Given the description of an element on the screen output the (x, y) to click on. 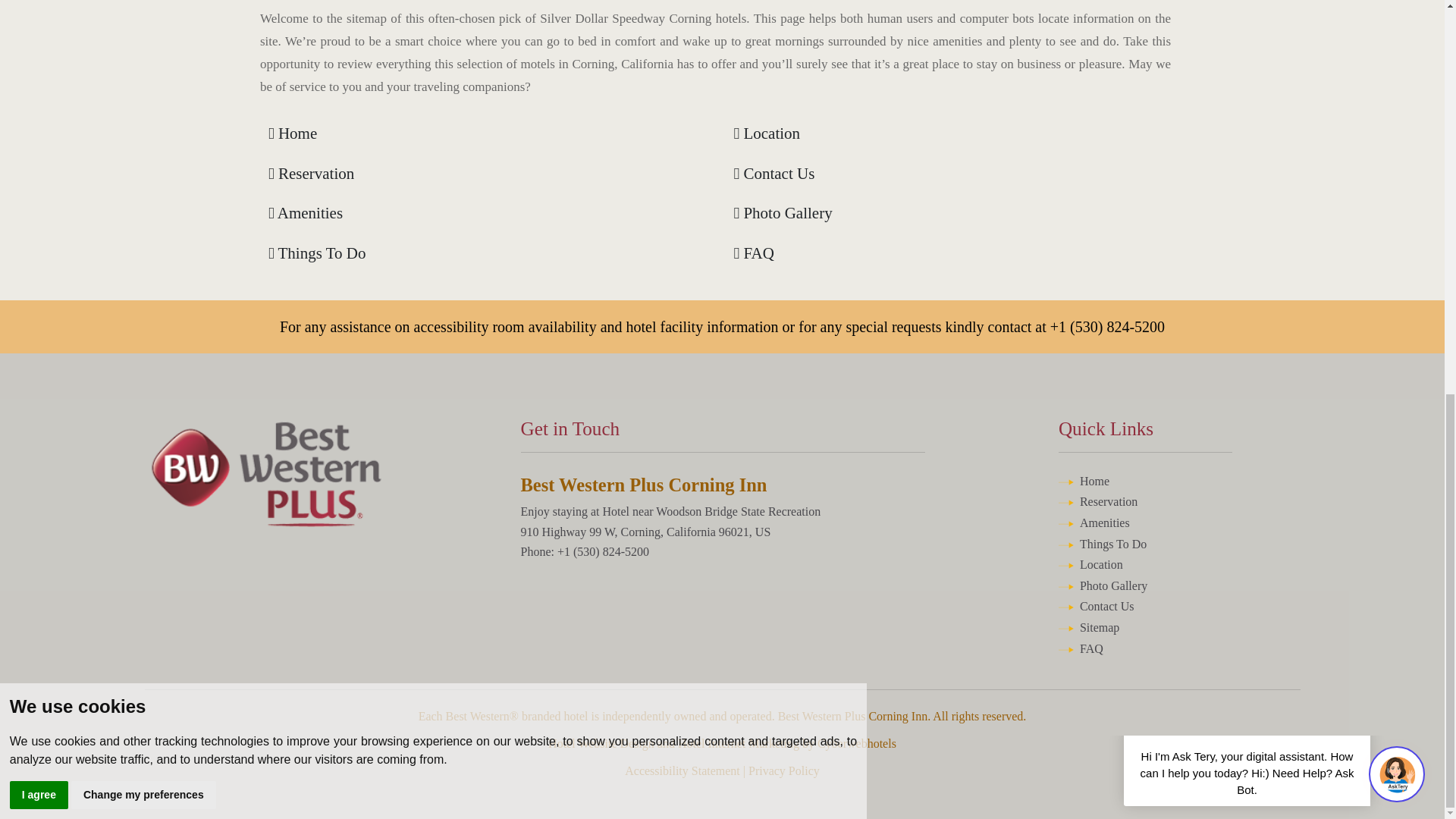
I agree (39, 37)
Change my preferences (143, 37)
